Given the description of an element on the screen output the (x, y) to click on. 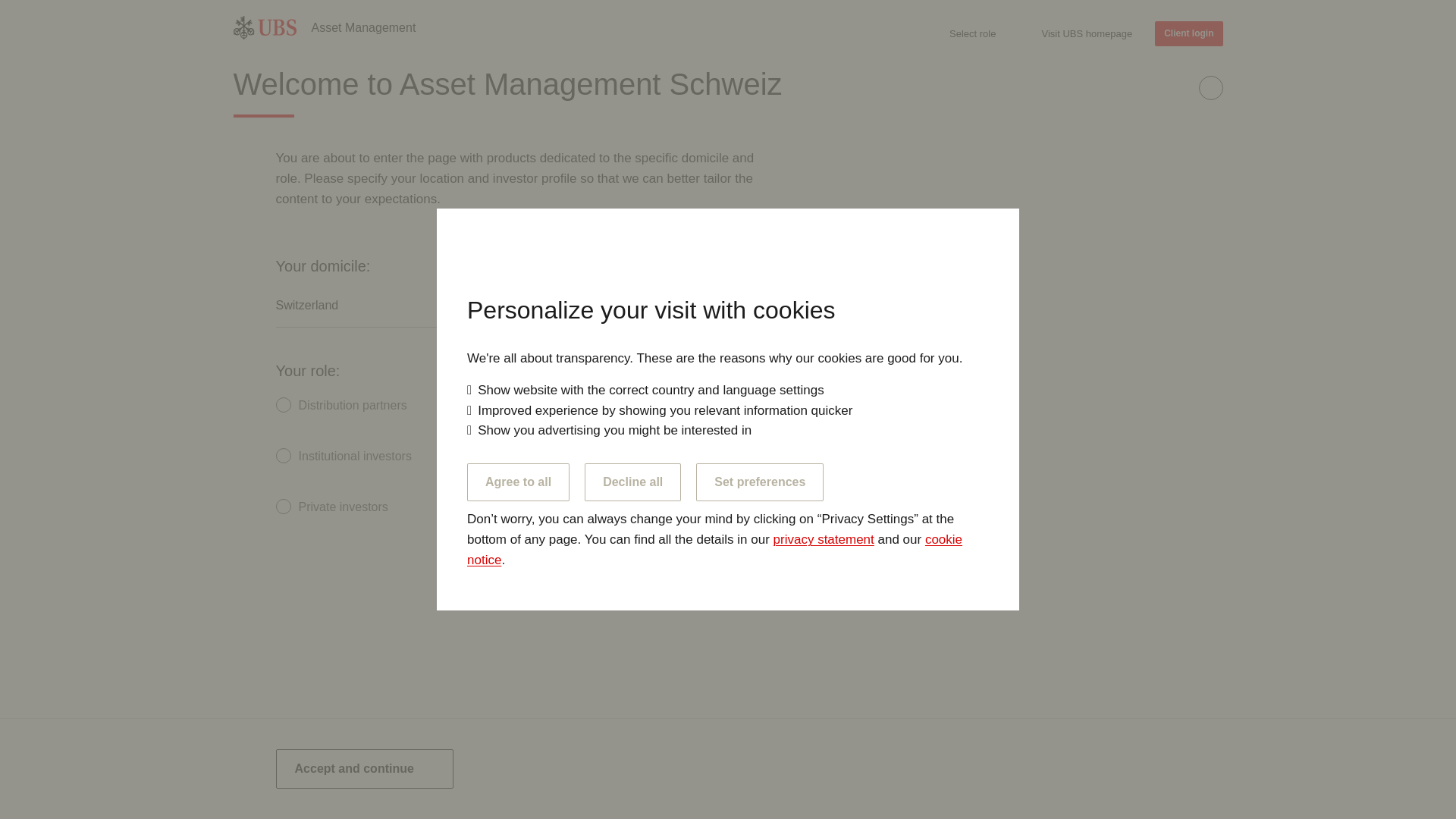
UBS Asset Management Switzerland (362, 27)
Asset Management (362, 27)
Client login (1188, 33)
Visit UBS homepage (1086, 33)
Search (1209, 67)
Select role (972, 33)
